Given the description of an element on the screen output the (x, y) to click on. 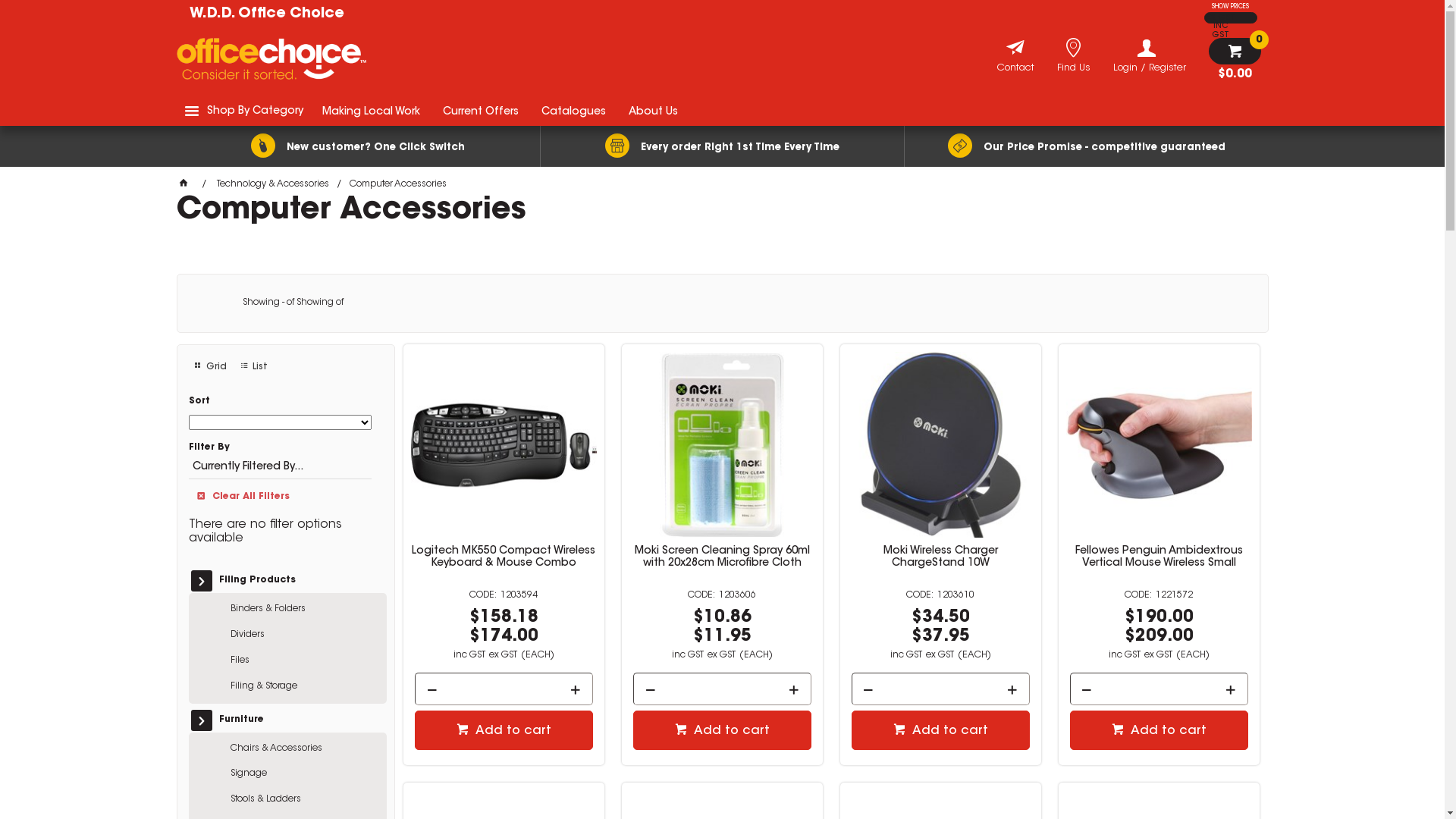
Contact Element type: text (1014, 69)
Find Us Element type: text (1073, 69)
Every order Right 1st Time Every Time Element type: text (721, 145)
Clear All Filters Element type: text (279, 494)
Add to cart Element type: text (503, 729)
Add to cart Element type: text (722, 729)
Catalogues Element type: text (572, 110)
Add to cart Element type: text (940, 729)
Our Price Promise - competitive guaranteed Element type: text (1085, 145)
Fellowes Penguin Ambidextrous Vertical Mouse Wireless Small Element type: text (1159, 557)
Add to cart Element type: text (1159, 729)
Current Offers Element type: text (479, 110)
$0.00
0 Element type: text (1234, 59)
Logitech MK550 Compact Wireless Keyboard & Mouse Combo Element type: text (503, 557)
Files Element type: text (303, 661)
New customer? One Click Switch Element type: text (357, 145)
About Us Element type: text (653, 110)
Technology & Accessories Element type: text (272, 183)
Dividers Element type: text (303, 635)
Login / Register Element type: text (1149, 55)
Filing & Storage Element type: text (303, 686)
Chairs & Accessories Element type: text (303, 749)
Binders & Folders Element type: text (303, 609)
Moki Wireless Charger ChargeStand 10W Element type: text (940, 557)
Signage Element type: text (303, 774)
Filing Products Element type: text (293, 580)
Stools & Ladders Element type: text (303, 799)
Making Local Work Element type: text (370, 110)
EX GST Element type: text (1220, 17)
INC GST Element type: text (1220, 25)
Furniture Element type: text (293, 720)
